Given the description of an element on the screen output the (x, y) to click on. 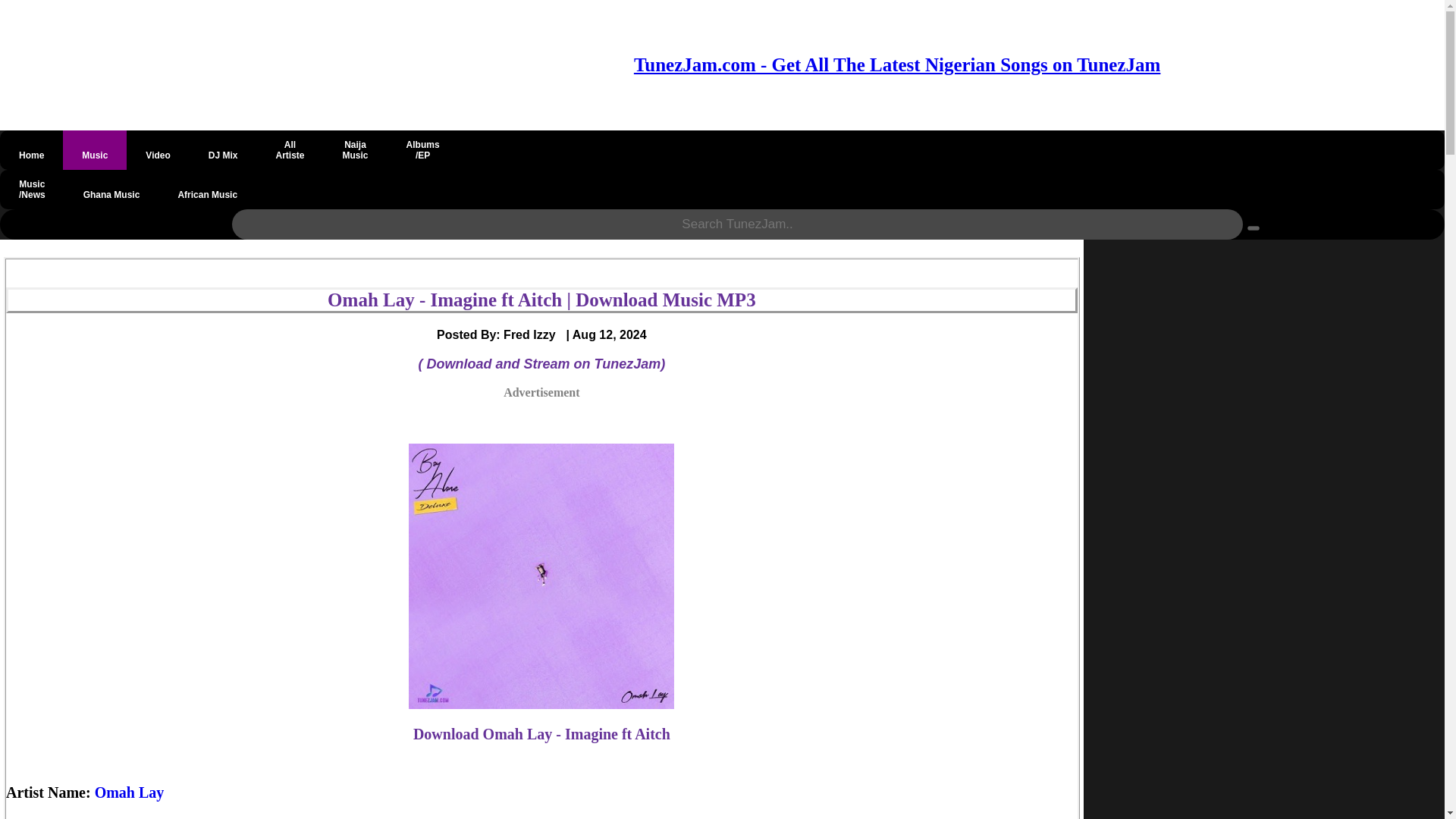
Home (31, 149)
African Music (207, 189)
Aitch (95, 817)
Search source code (1253, 228)
Ghana Music (111, 189)
TunezJam.com - Get All The Latest Nigerian Songs on TunezJam (896, 64)
DJ Mix (290, 149)
Posted By: Fred Izzy   (223, 149)
Omah Lay (501, 334)
